Given the description of an element on the screen output the (x, y) to click on. 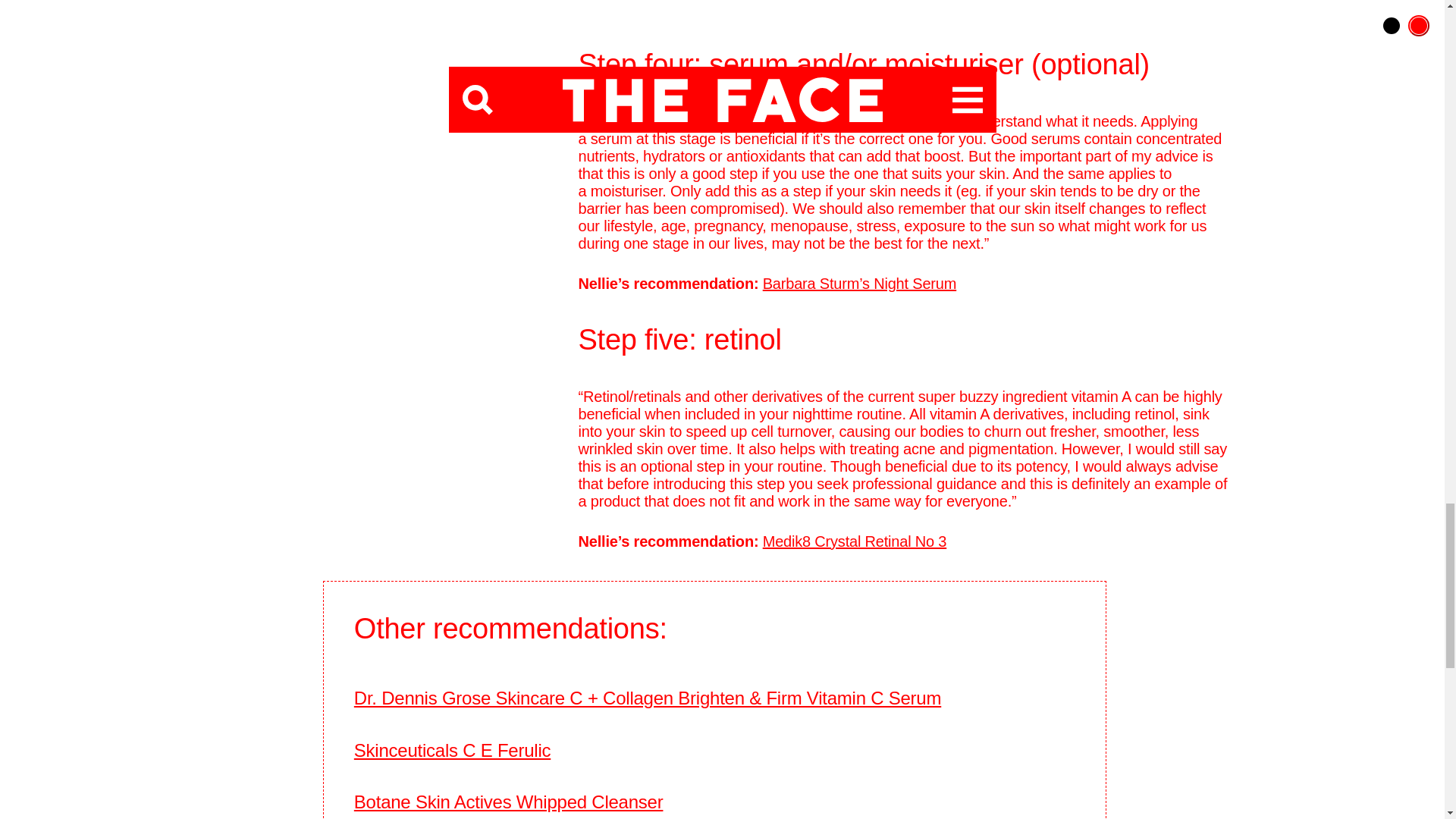
Medik8 Crystal Retinal No 3 (854, 541)
Skinceuticals C E Ferulic (451, 750)
Botane Skin Actives Whipped Cleanser (508, 801)
